Given the description of an element on the screen output the (x, y) to click on. 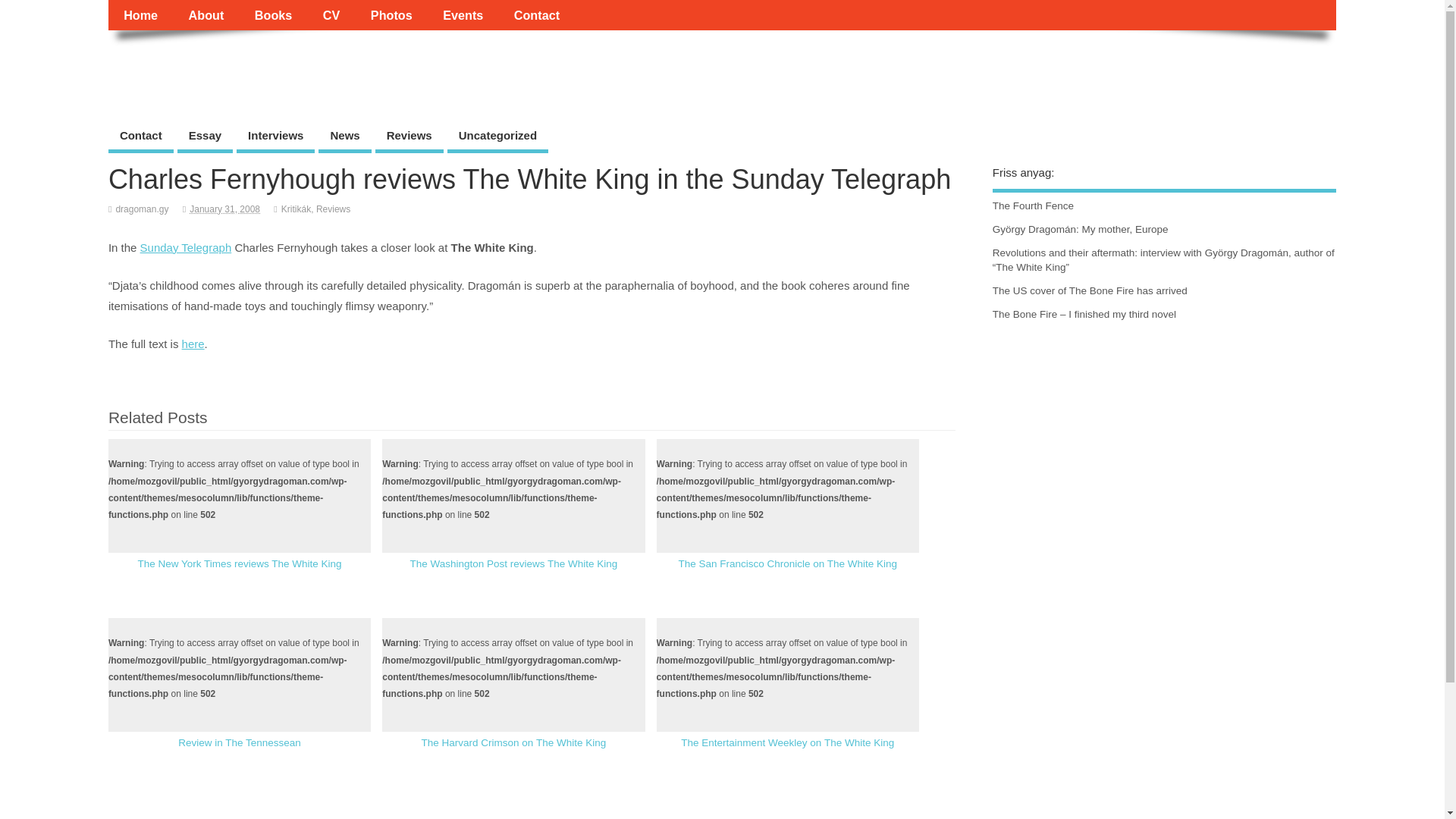
Review in The Tennessean (239, 742)
About (205, 15)
The Harvard Crimson on The White King (514, 742)
Events (463, 15)
here (193, 343)
The Harvard Crimson on The White King (514, 742)
The New York Times reviews The White King (238, 563)
Interviews (274, 136)
Review in The Tennessean (239, 742)
The Fourth Fence (1033, 205)
Reviews (409, 136)
Essay (204, 136)
Contact (140, 136)
Photos (391, 15)
Home (140, 15)
